Given the description of an element on the screen output the (x, y) to click on. 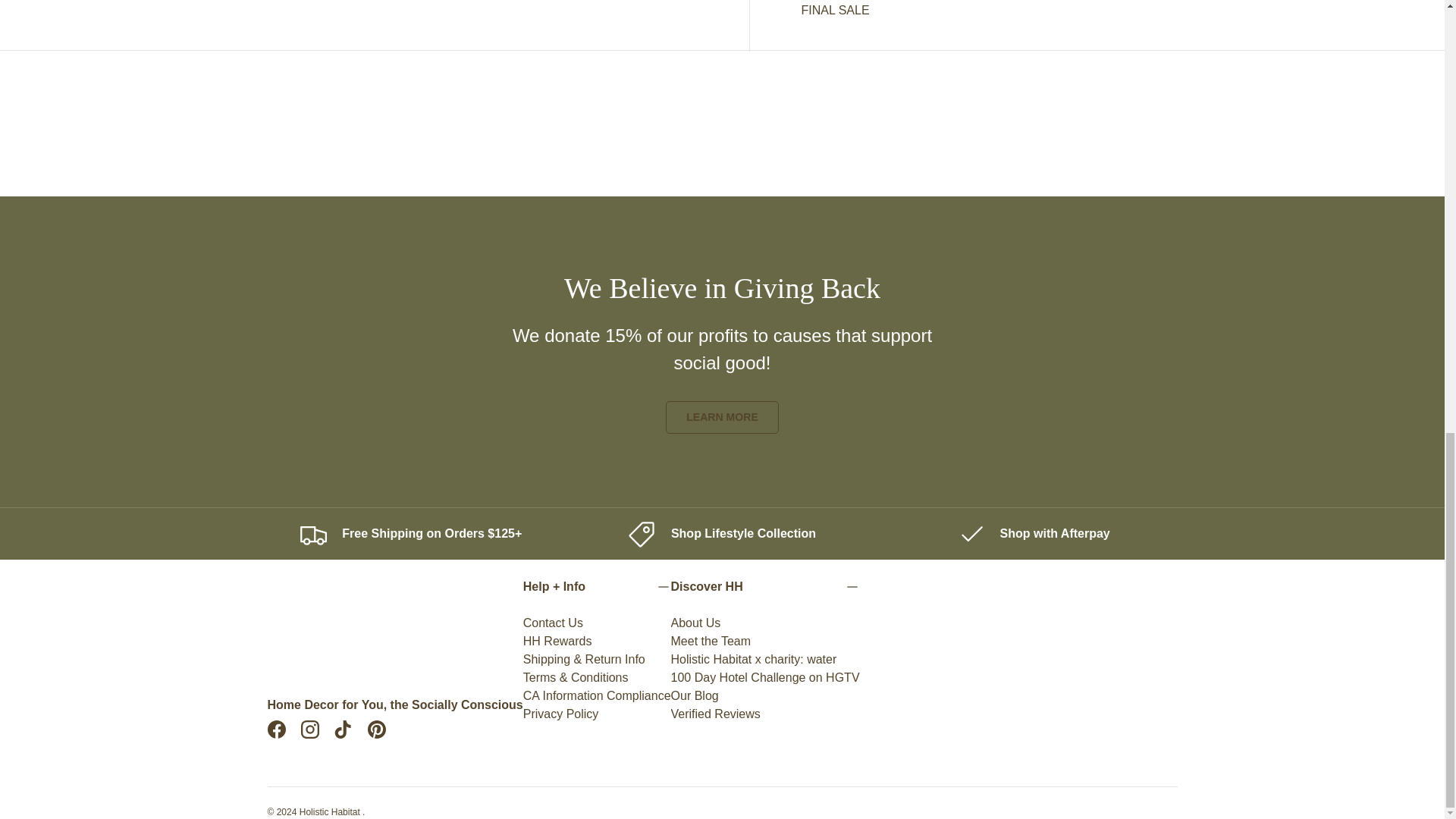
Holistic Habitat  on Pinterest (376, 729)
Holistic Habitat  on Instagram (309, 729)
Holistic Habitat  on TikTok (342, 729)
Holistic Habitat  on Facebook (275, 729)
